Given the description of an element on the screen output the (x, y) to click on. 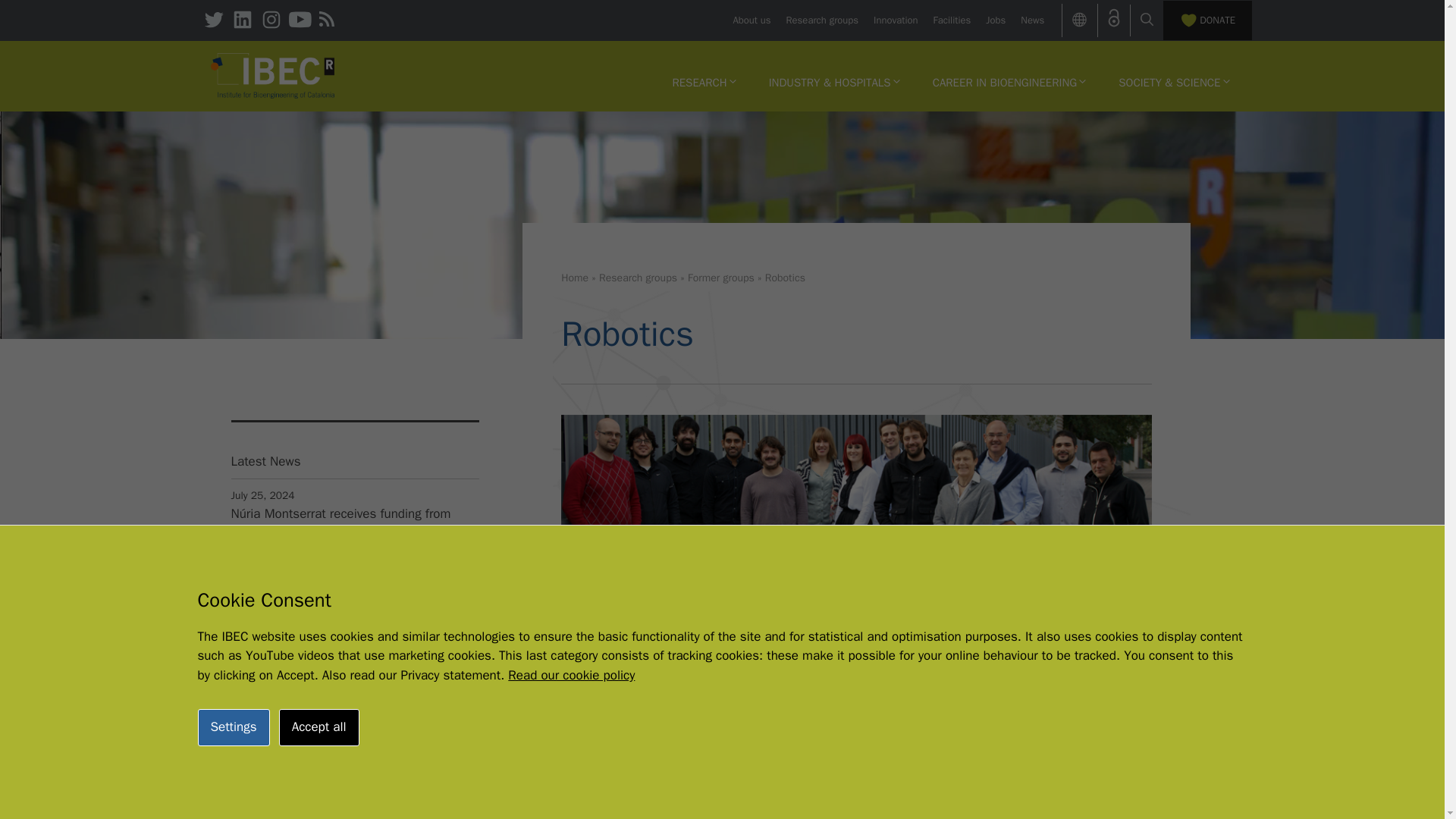
Jobs (995, 19)
Institute for Bioengineering of Catalonia (272, 75)
DONATE (1207, 20)
Research groups (822, 19)
RESEARCH (704, 81)
About us (751, 19)
Facilities (952, 19)
Innovation (895, 19)
News (1031, 19)
Institute for Bioengineering of Catalonia (272, 74)
